Given the description of an element on the screen output the (x, y) to click on. 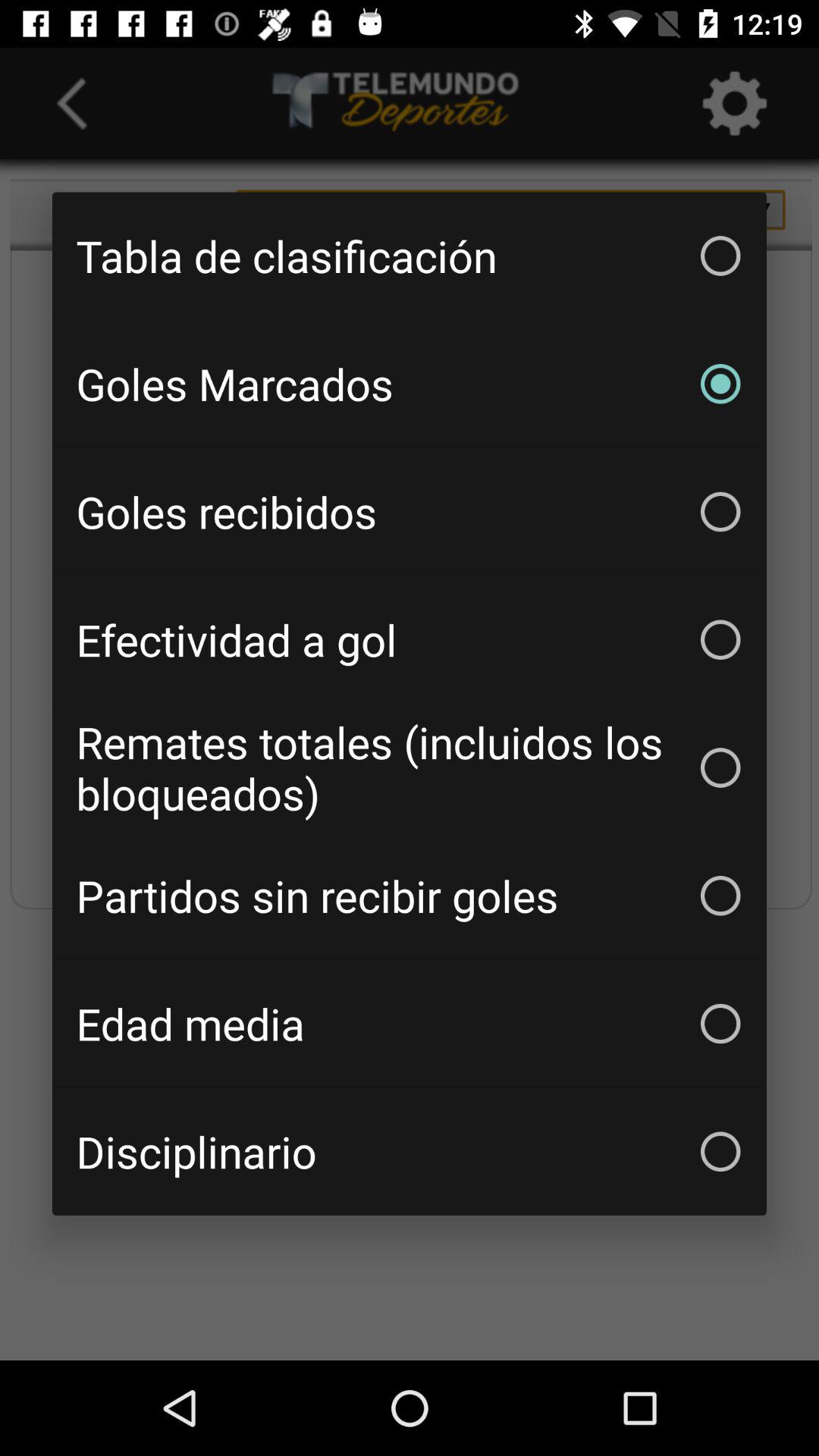
tap the item above the efectividad a gol (409, 511)
